Given the description of an element on the screen output the (x, y) to click on. 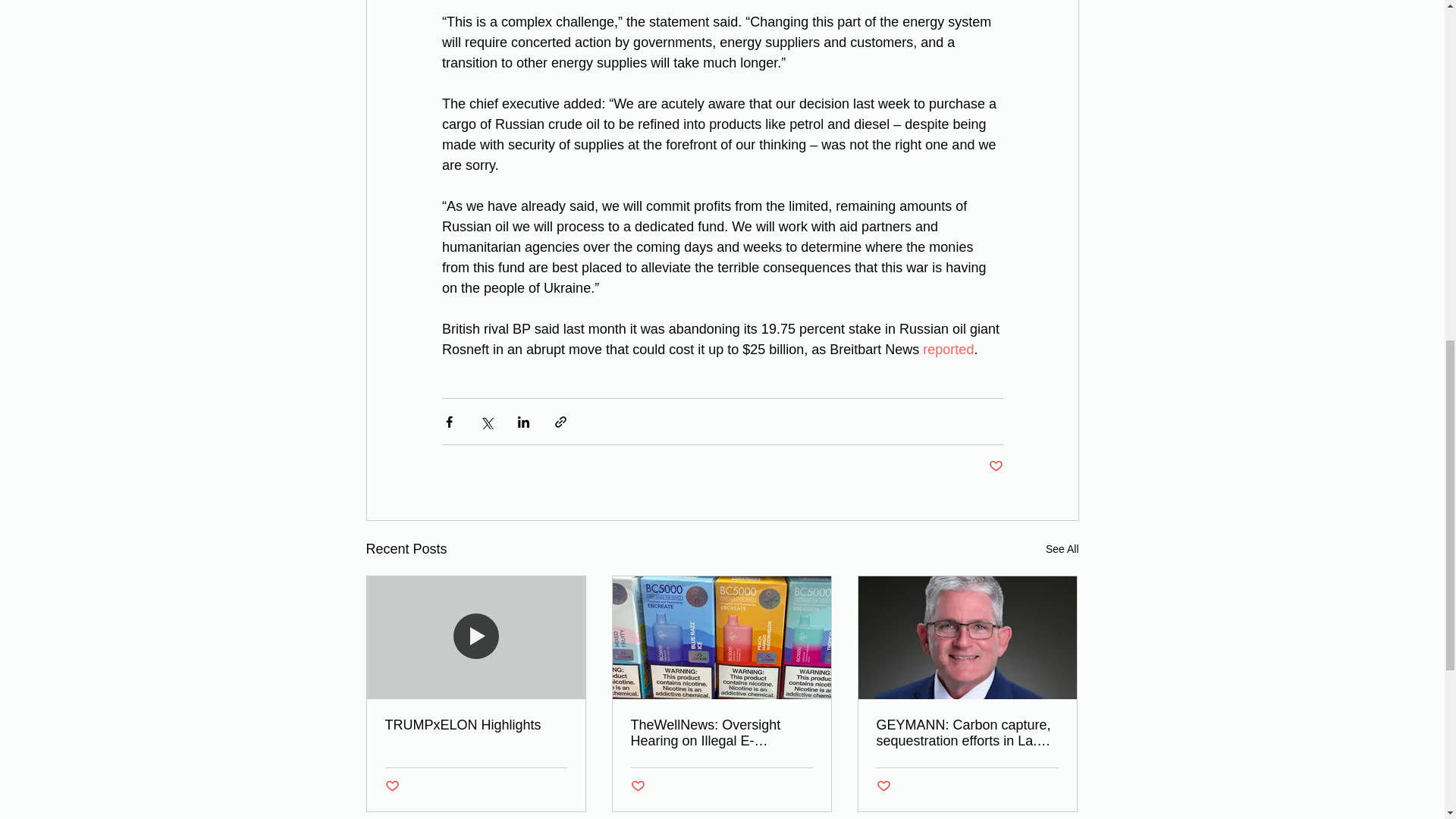
TRUMPxELON Highlights (476, 725)
Post not marked as liked (883, 786)
Post not marked as liked (637, 786)
Post not marked as liked (391, 786)
See All (1061, 549)
Post not marked as liked (995, 466)
reported (948, 349)
